Given the description of an element on the screen output the (x, y) to click on. 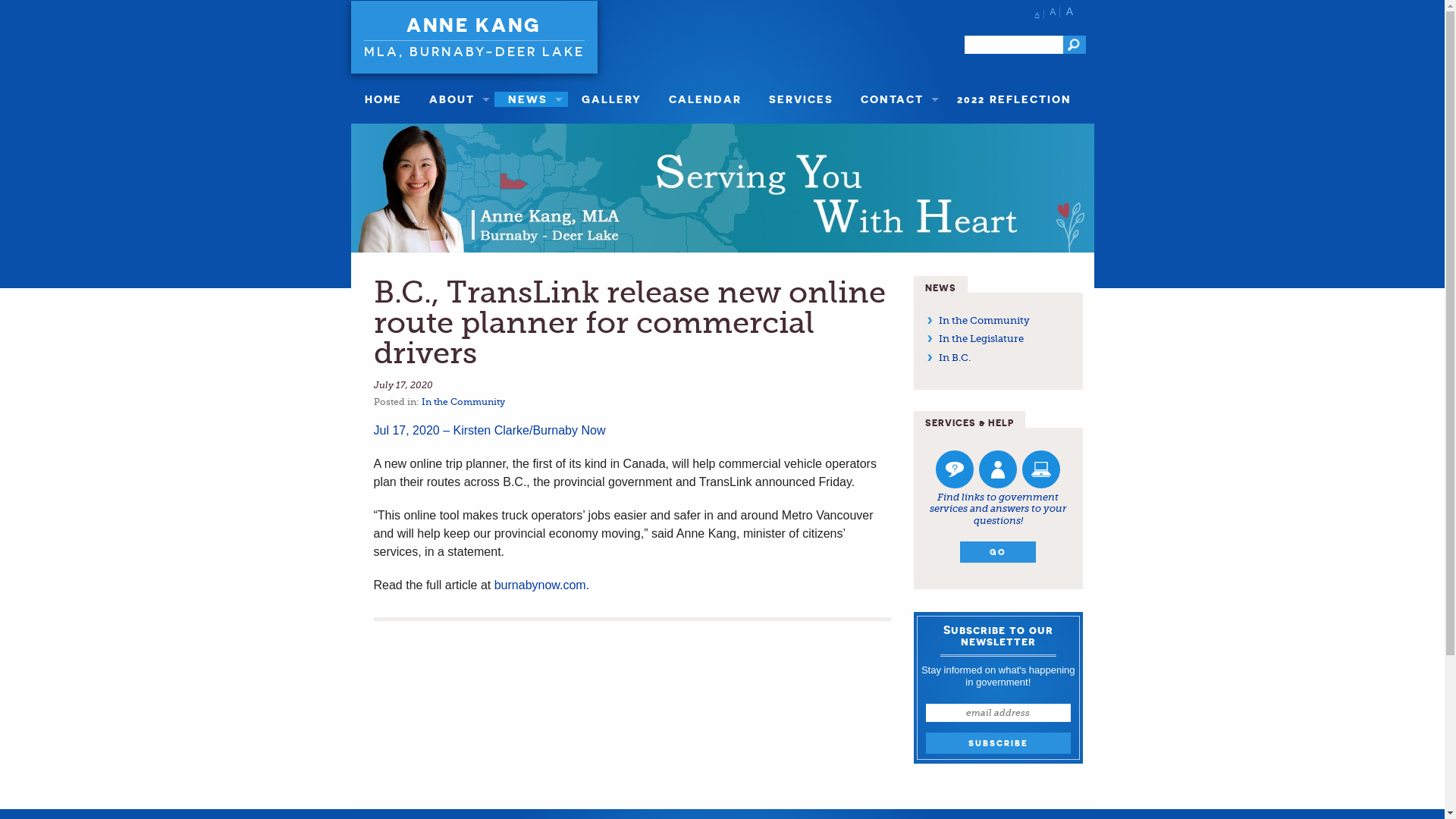
GO Element type: text (997, 551)
In the Community Element type: text (463, 401)
CONTACT Element type: text (895, 98)
SERVICES Element type: text (801, 98)
ANNE KANG Element type: text (473, 24)
In the Legislature Element type: text (980, 338)
Go Element type: text (1074, 44)
July 17, 2020 Element type: text (402, 384)
HOME Element type: text (382, 98)
CALENDAR Element type: text (705, 98)
A Element type: text (1039, 14)
In B.C. Element type: text (954, 357)
GALLERY Element type: text (611, 98)
In the Community Element type: text (983, 320)
ABOUT Element type: text (455, 98)
A Element type: text (1071, 11)
2022 REFLECTION Element type: text (1014, 98)
MLA, BURNABY-DEER LAKE Element type: text (474, 49)
NEWS Element type: text (530, 98)
A Element type: text (1054, 11)
Subscribe Element type: text (997, 742)
burnabynow.com Element type: text (540, 584)
